Given the description of an element on the screen output the (x, y) to click on. 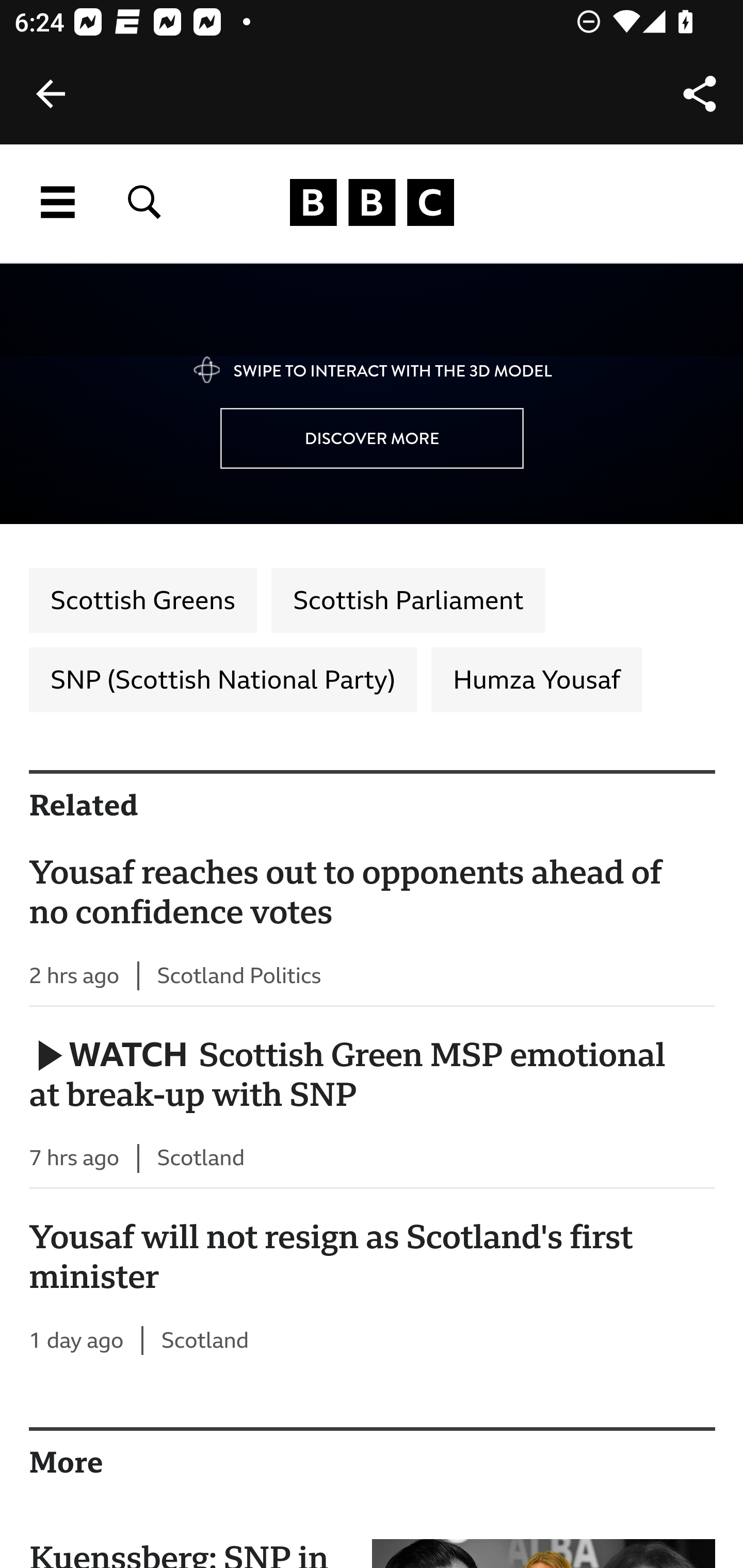
Back (50, 93)
Share (699, 93)
www.bbc (371, 203)
DISCOVER MORE (371, 438)
Scottish Greens (142, 601)
Scottish Parliament (408, 601)
SNP (Scottish National Party) (222, 680)
Humza Yousaf (535, 680)
